Given the description of an element on the screen output the (x, y) to click on. 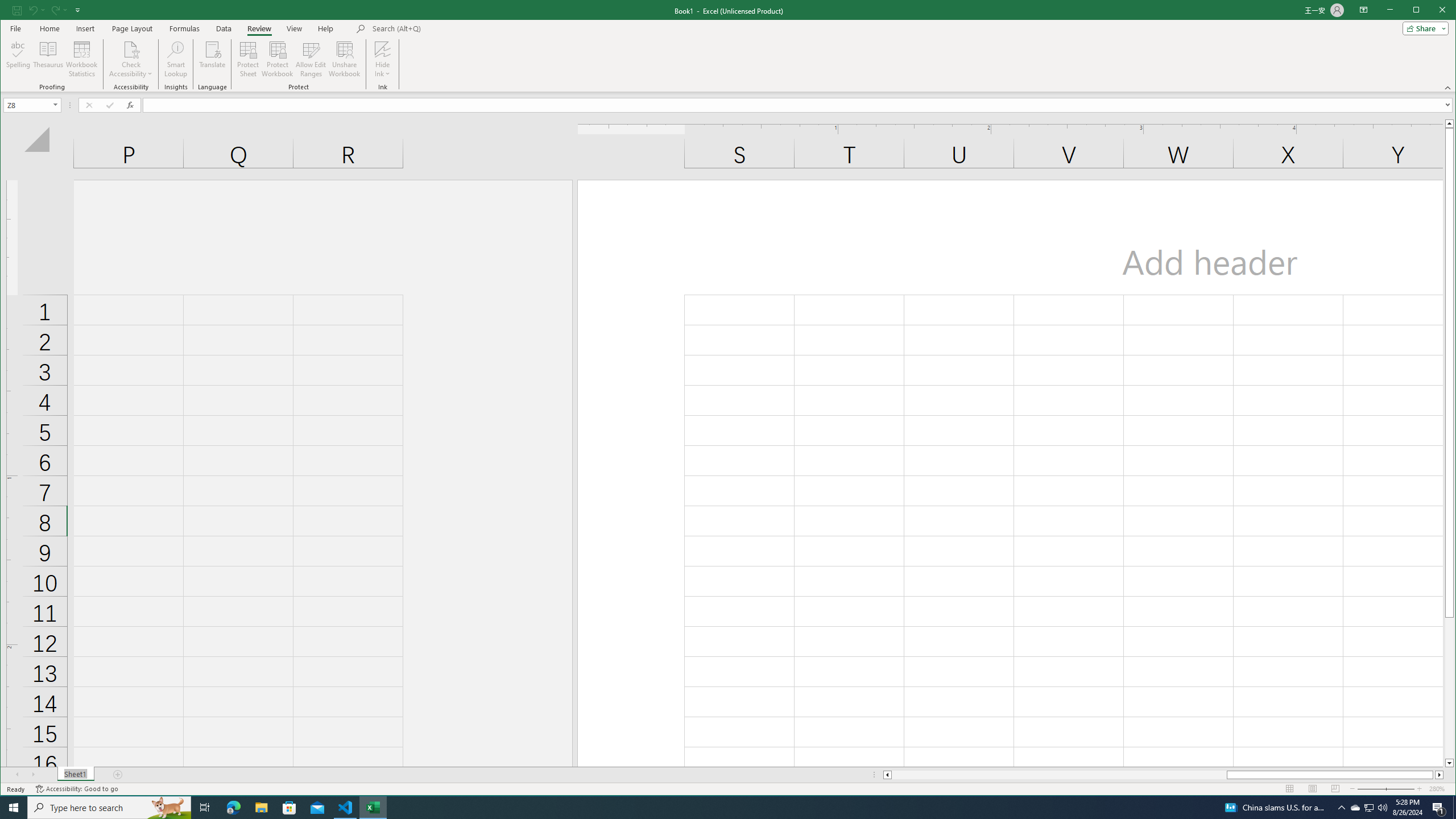
Task View (204, 807)
File Explorer (261, 807)
Maximize (1432, 11)
Visual Studio Code - 1 running window (345, 807)
Translate (212, 59)
Workbook Statistics (82, 59)
